Given the description of an element on the screen output the (x, y) to click on. 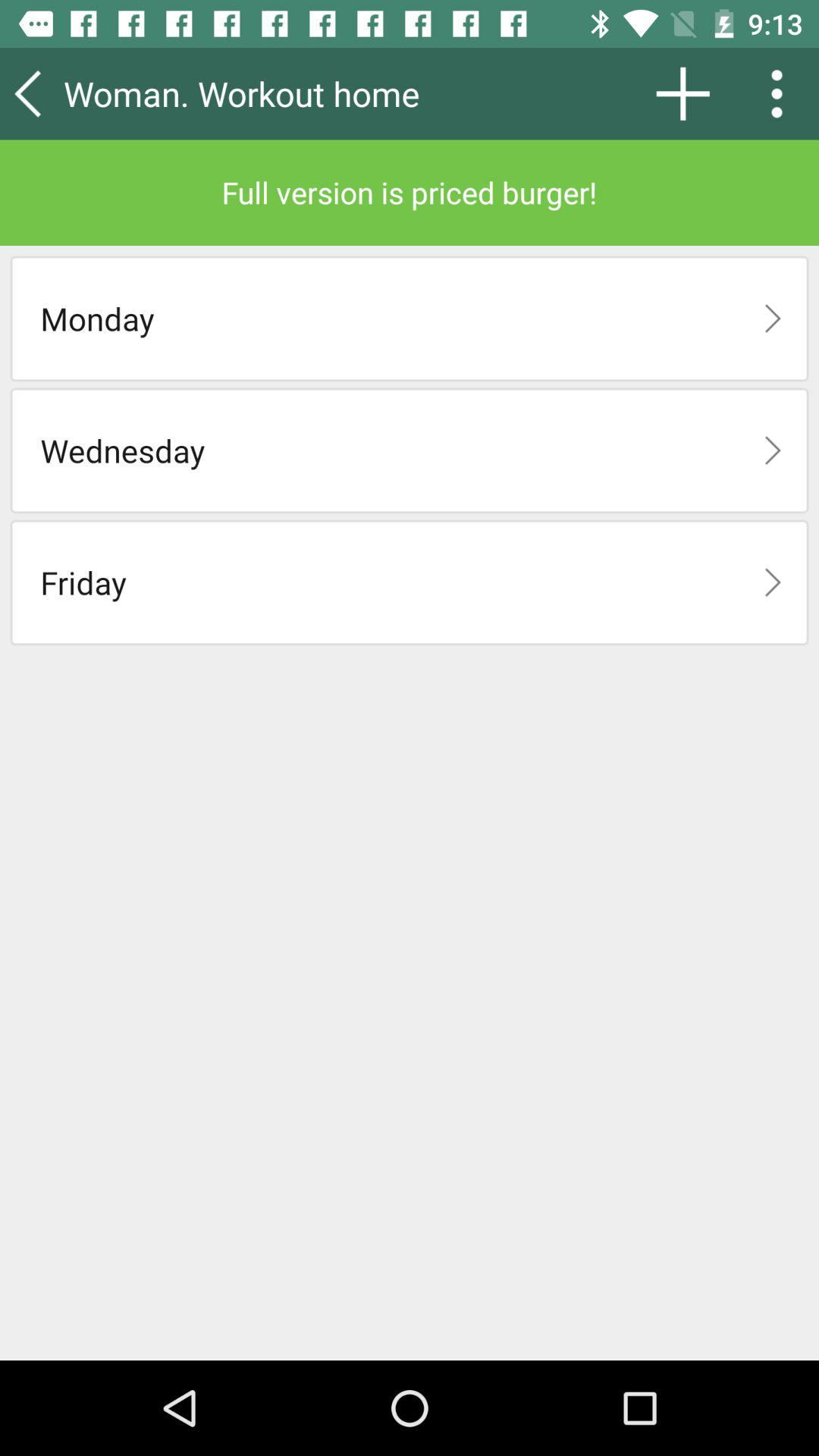
select app above the full version is (284, 93)
